Given the description of an element on the screen output the (x, y) to click on. 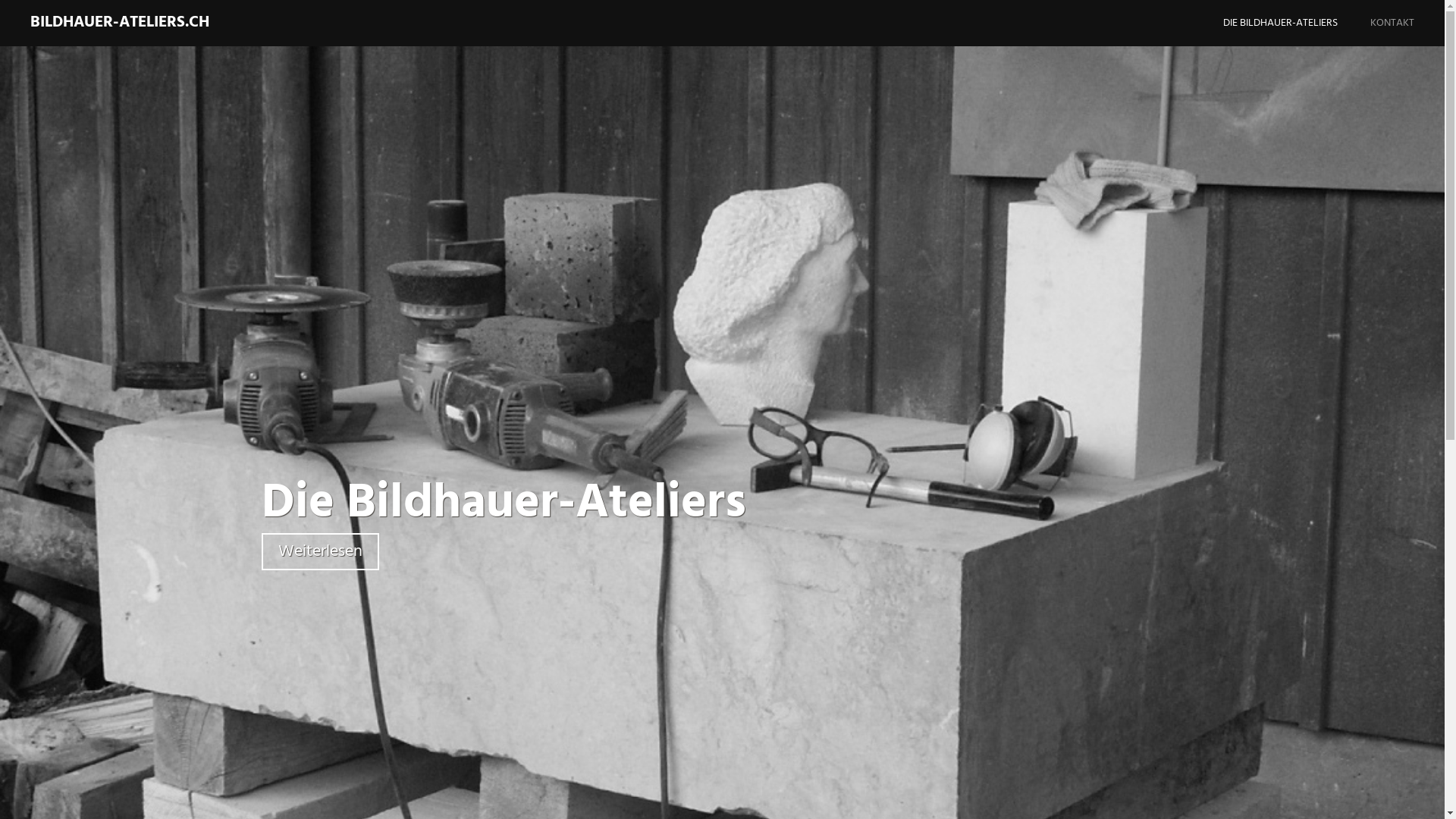
Zum Inhalt springen Element type: text (1268, 7)
DIE BILDHAUER-ATELIERS Element type: text (1295, 23)
Weiterlesen Element type: text (319, 550)
BILDHAUER-ATELIERS.CH Element type: text (119, 22)
KONTAKT Element type: text (1407, 23)
Die Bildhauer-Ateliers Element type: text (502, 503)
